Given the description of an element on the screen output the (x, y) to click on. 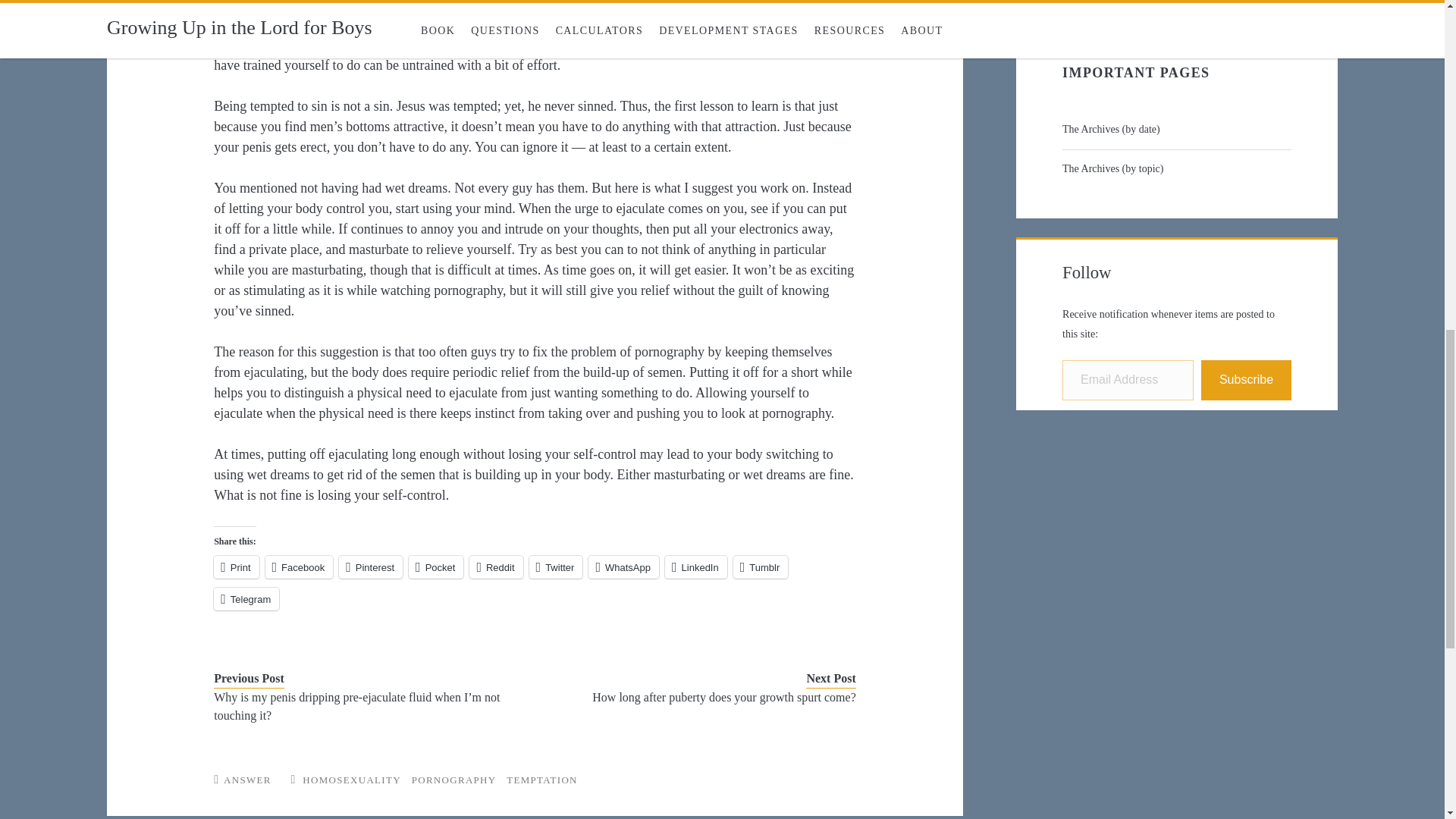
Click to share on LinkedIn (695, 567)
Pinterest (371, 567)
ANSWER (247, 779)
Click to print (236, 567)
LinkedIn (695, 567)
Click to share on Reddit (495, 567)
Click to share on Pinterest (371, 567)
Twitter (556, 567)
Telegram (246, 599)
View all posts tagged pornography (454, 779)
